Given the description of an element on the screen output the (x, y) to click on. 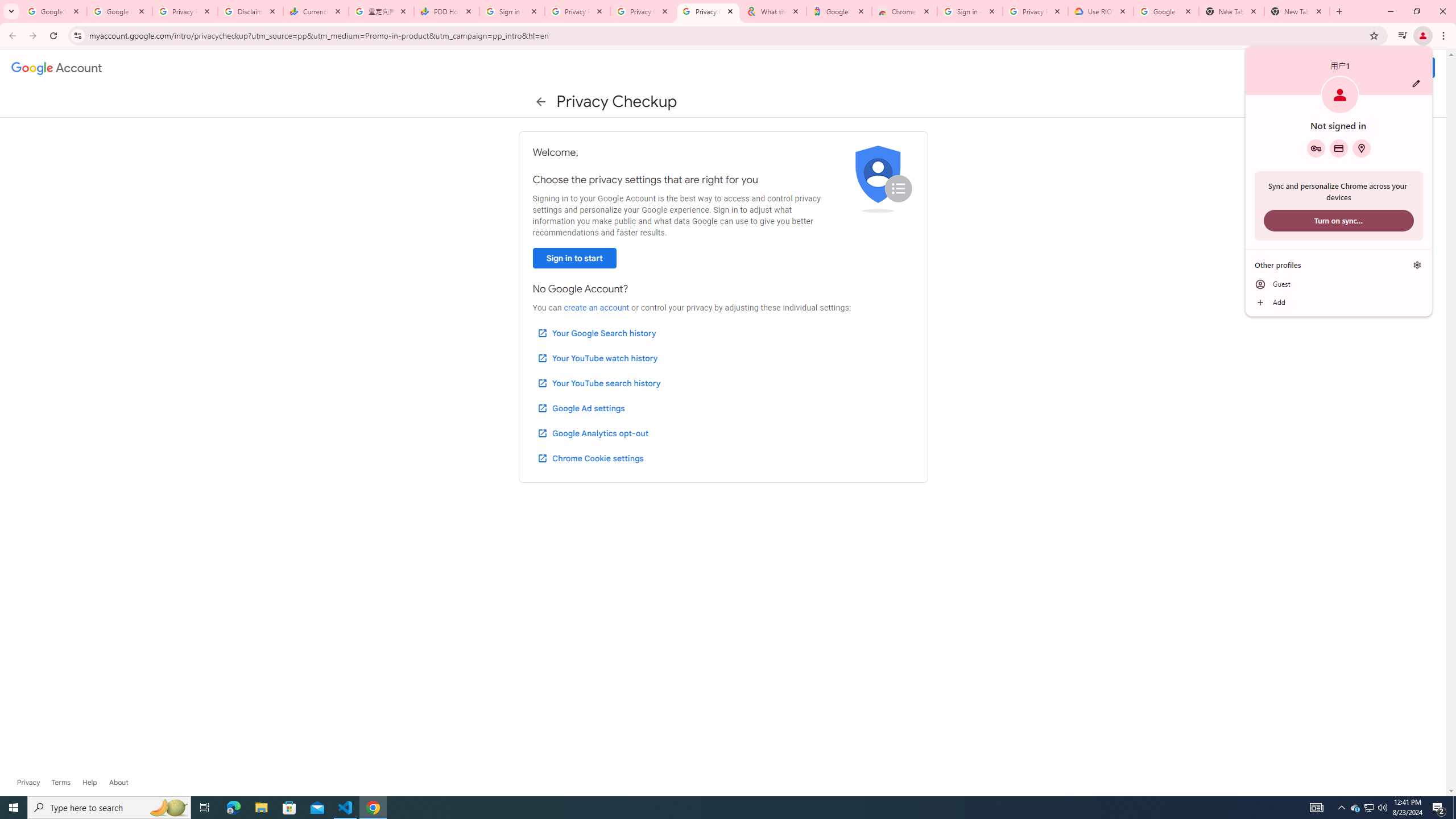
Payment methods (1338, 148)
Google Account settings (56, 68)
Sign in to start (573, 258)
Google Analytics opt-out (592, 433)
Start (13, 807)
Guest (1338, 284)
Your Google Search history (596, 332)
Chrome Cookie settings (589, 457)
Add (1338, 302)
